Given the description of an element on the screen output the (x, y) to click on. 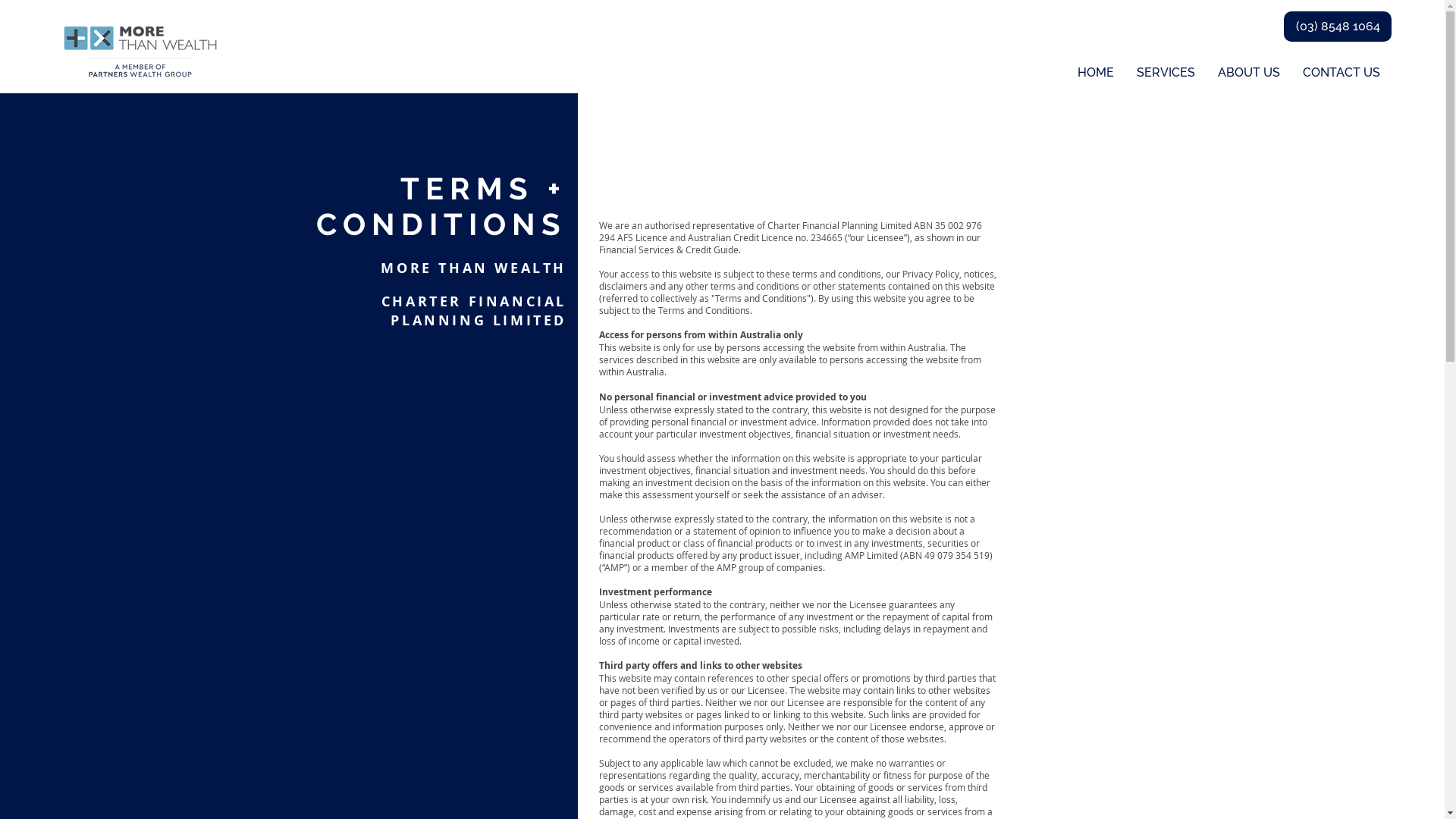
MORE THAN WEALTH Element type: text (473, 267)
CHARTER FINANCIAL PLANNING LIMITED Element type: text (473, 310)
SERVICES Element type: text (1165, 72)
CONDITIONS Element type: text (441, 223)
CONTACT US Element type: text (1341, 72)
HOME Element type: text (1095, 72)
TERMS + Element type: text (483, 188)
More Than Wealth Element type: hover (140, 47)
ABOUT US Element type: text (1248, 72)
(03) 8548 1064 Element type: text (1337, 26)
